Given the description of an element on the screen output the (x, y) to click on. 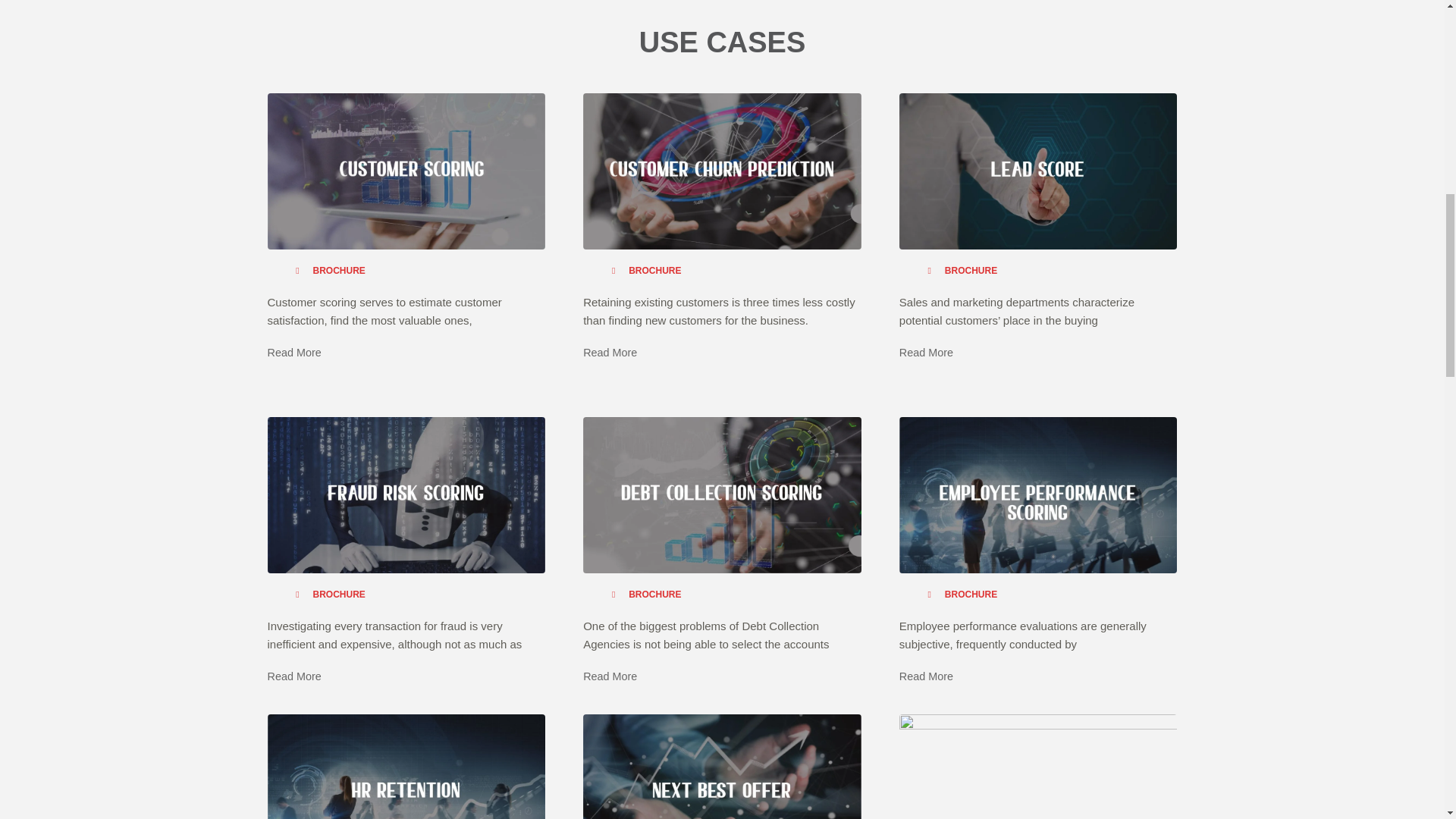
Homepage (339, 593)
BROCHURE (654, 593)
Homepage (970, 593)
Homepage (654, 593)
BROCHURE (970, 593)
BROCHURE (339, 270)
Homepage (339, 270)
BROCHURE (339, 593)
Homepage (970, 270)
BROCHURE (654, 270)
Homepage (654, 270)
BROCHURE (970, 270)
